Given the description of an element on the screen output the (x, y) to click on. 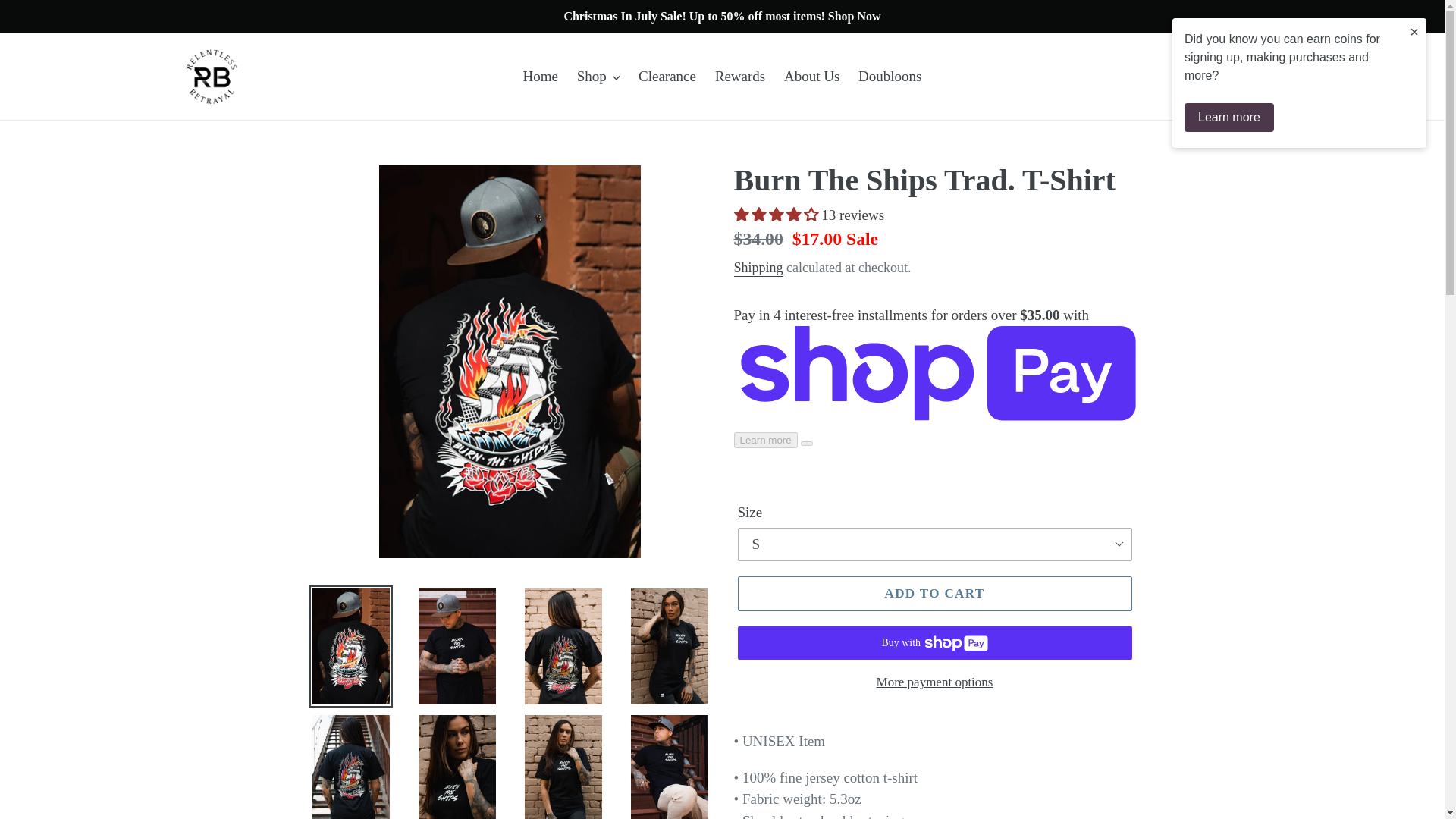
Doubloons (889, 76)
Rewards (740, 76)
Home (540, 76)
Log in (1296, 76)
About Us (811, 76)
Cart (1331, 76)
Clearance (666, 76)
Submit (1259, 76)
